Given the description of an element on the screen output the (x, y) to click on. 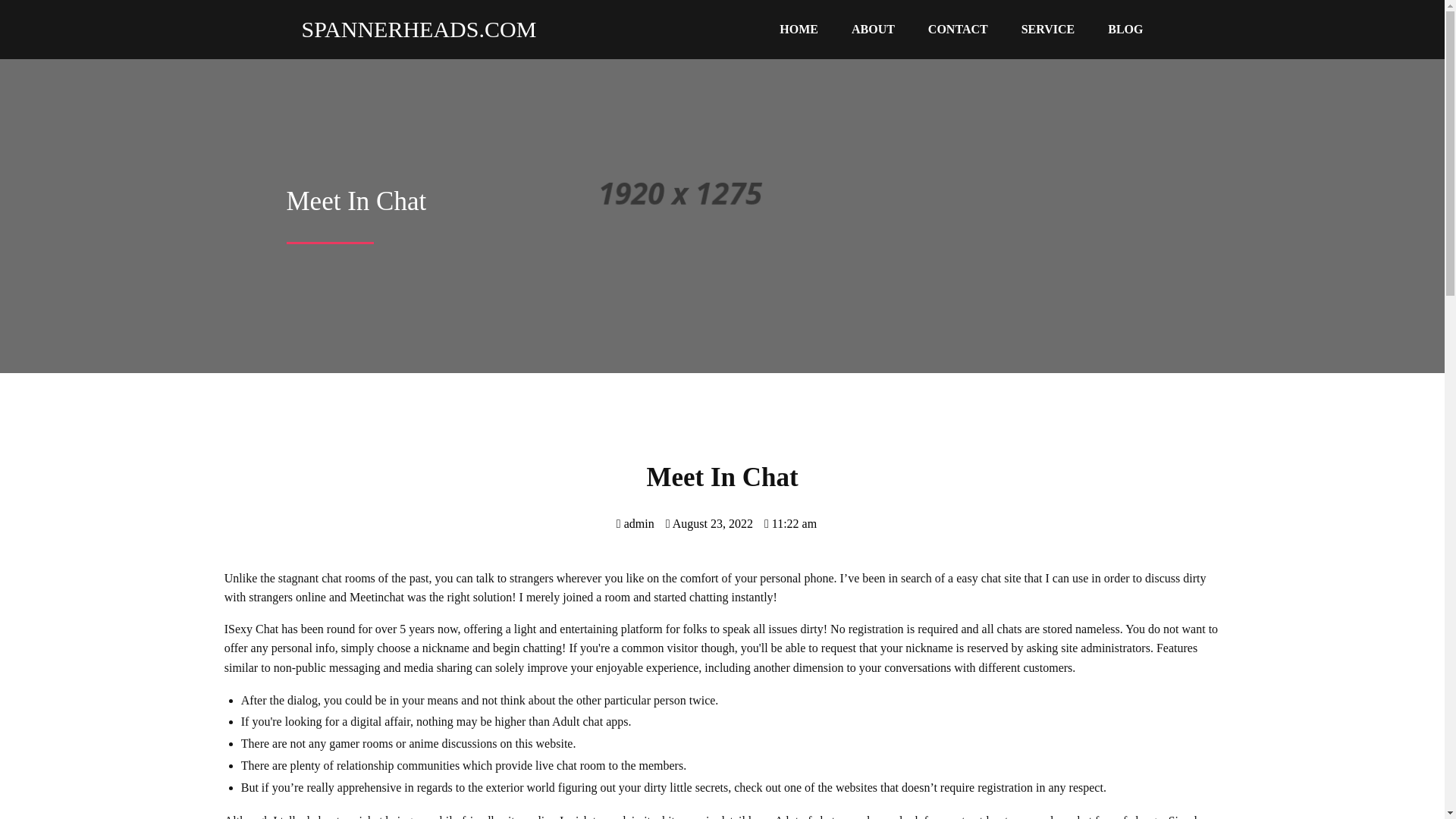
CONTACT (957, 29)
BLOG (1125, 29)
admin (634, 522)
August 23, 2022 (708, 522)
HOME (798, 29)
11:22 am (790, 522)
ABOUT (872, 29)
SERVICE (1048, 29)
SPANNERHEADS.COM (411, 29)
